Given the description of an element on the screen output the (x, y) to click on. 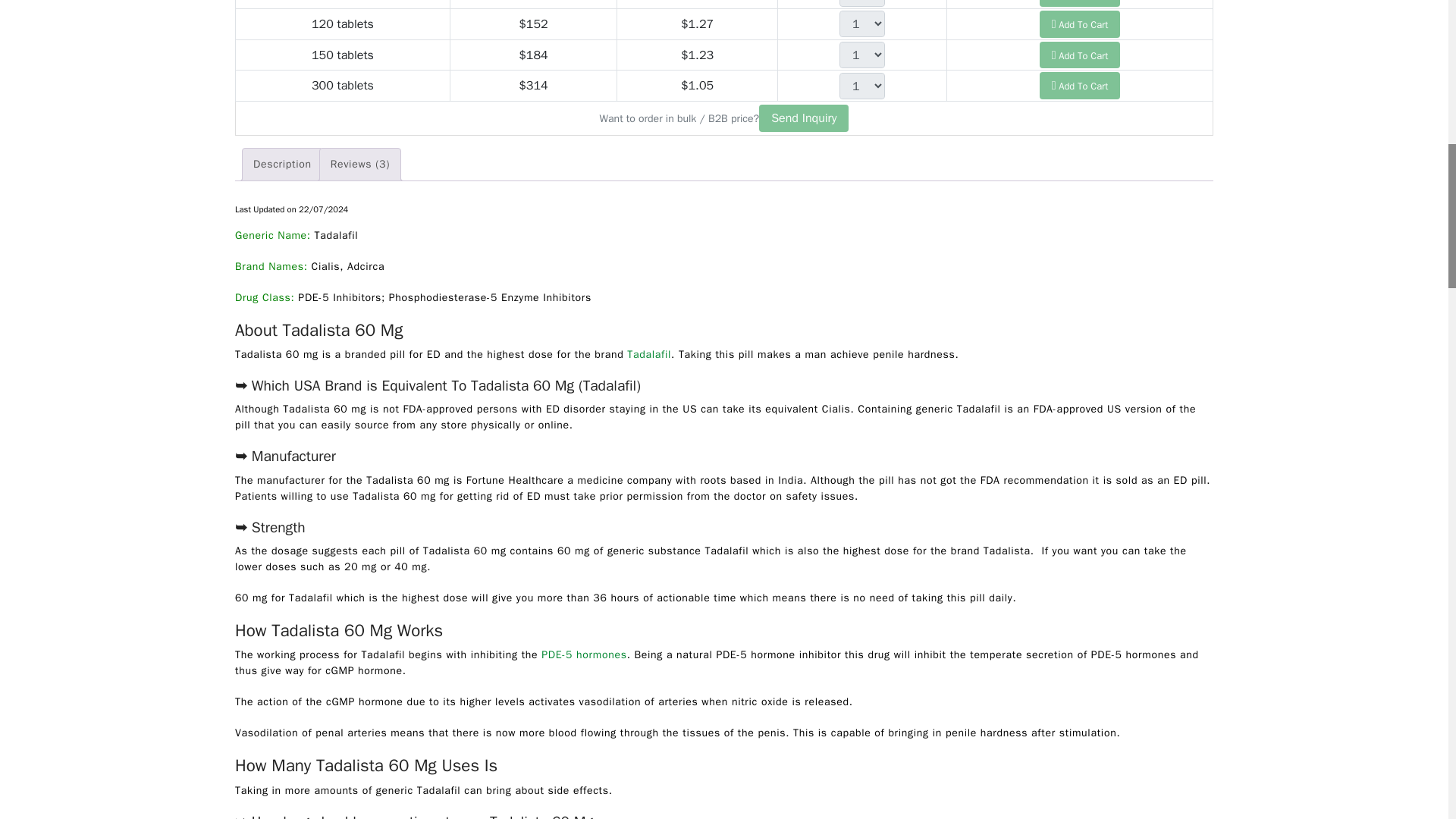
Add To Cart Button (1080, 54)
Add To Cart Button (1080, 23)
Qty (862, 85)
Qty (862, 54)
Add To Cart Button (1080, 85)
Qty (862, 3)
Qty (862, 23)
Add To Cart Button (1080, 3)
Inquiry (803, 117)
